Given the description of an element on the screen output the (x, y) to click on. 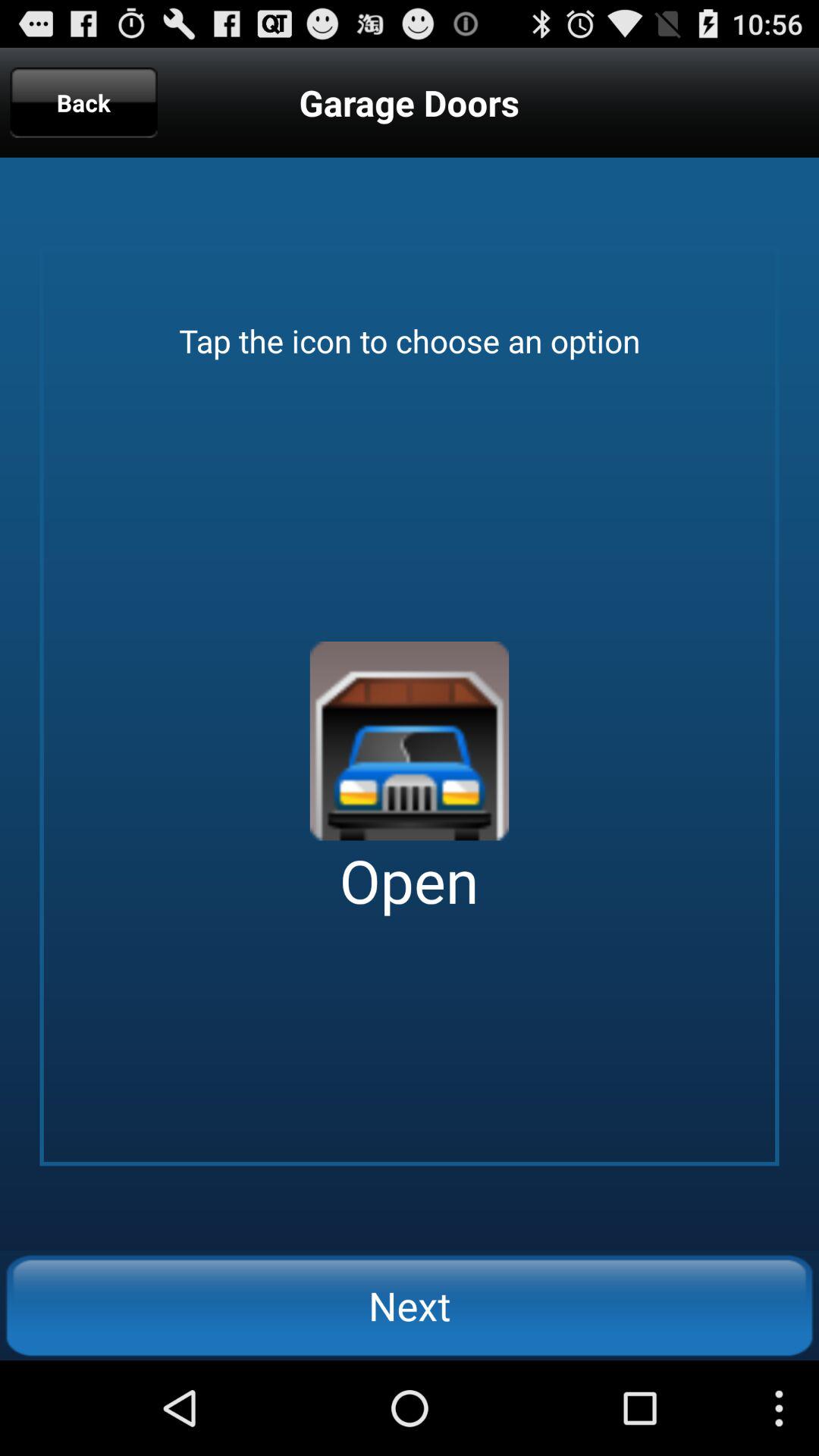
select back icon (83, 102)
